Given the description of an element on the screen output the (x, y) to click on. 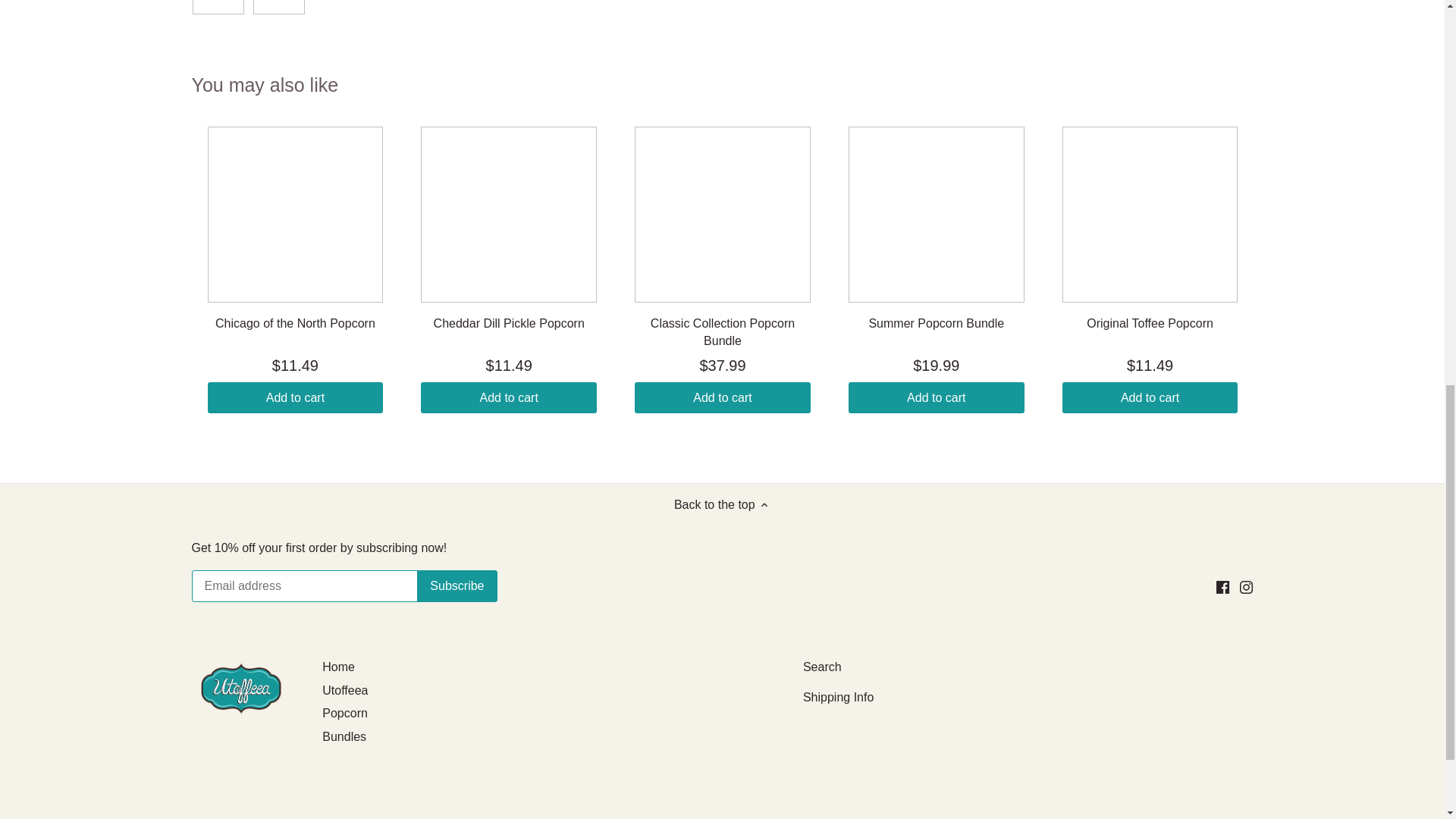
Chicago of the North Popcorn (296, 323)
Facebook (1221, 586)
Instagram (1246, 586)
Subscribe (456, 585)
